Given the description of an element on the screen output the (x, y) to click on. 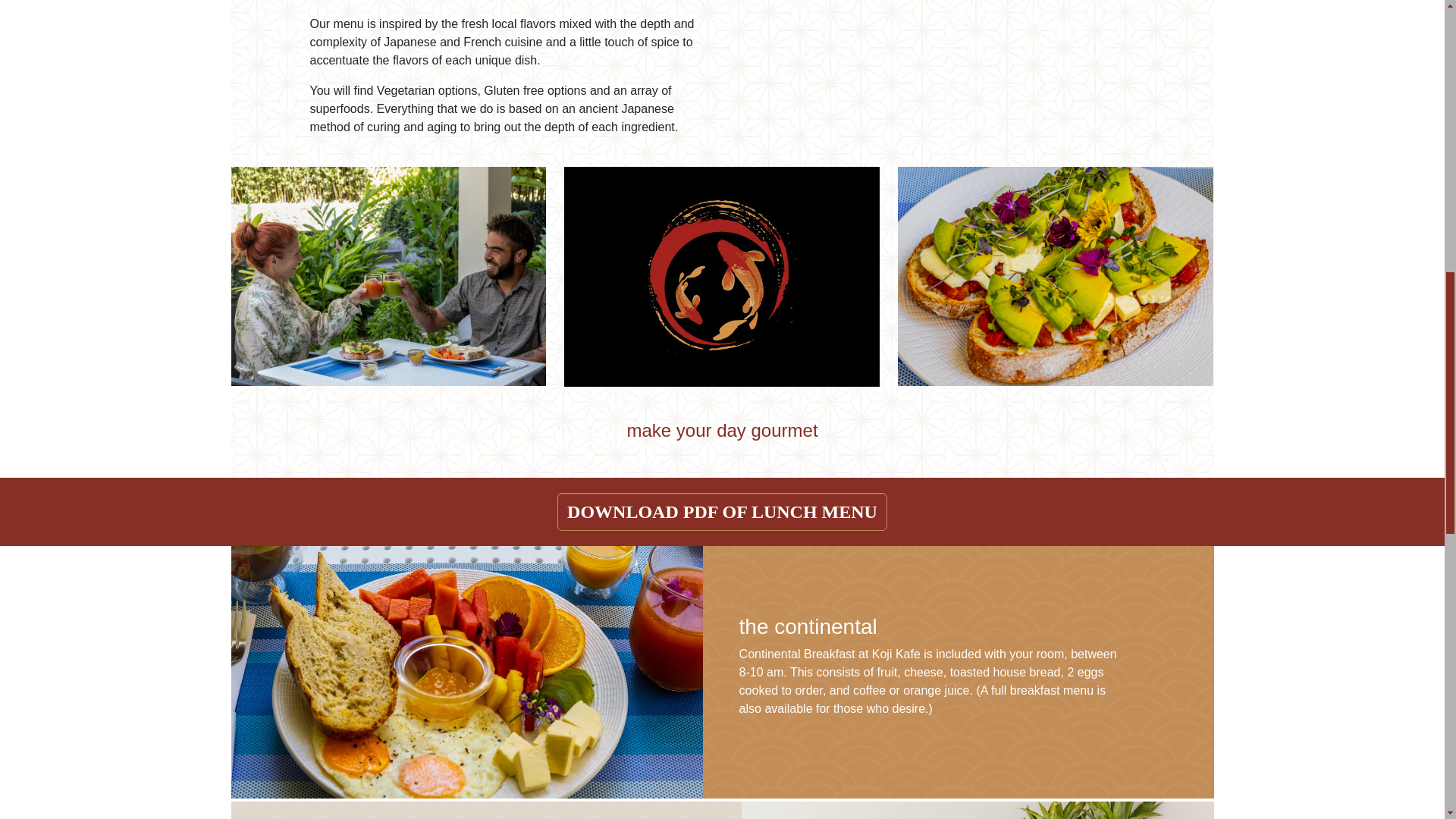
DOWNLOAD PDF OF LUNCH MENU (721, 511)
